Given the description of an element on the screen output the (x, y) to click on. 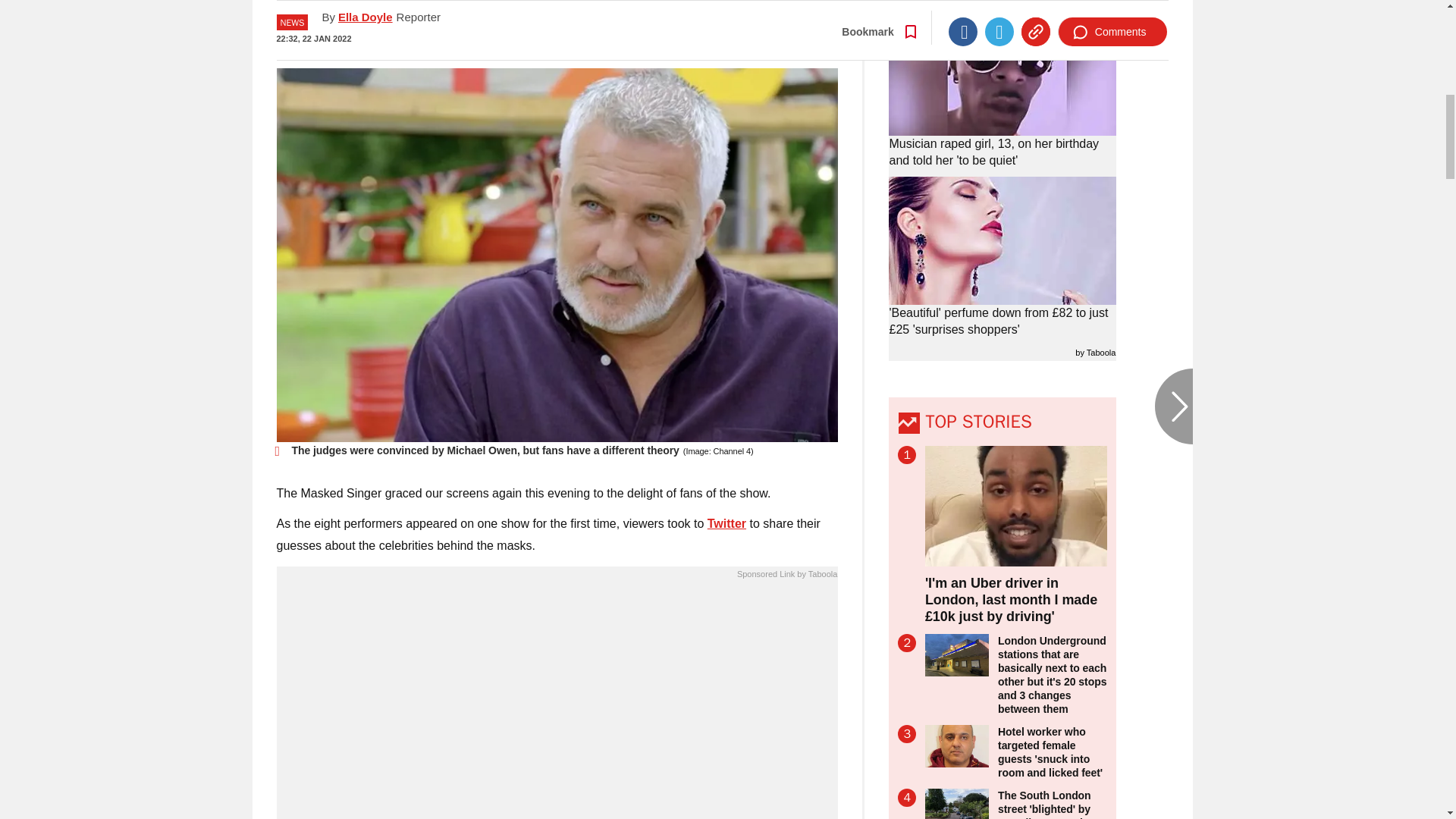
18 Unbelievable Luxurious Ocean Liners (557, 703)
Go (730, 34)
